Given the description of an element on the screen output the (x, y) to click on. 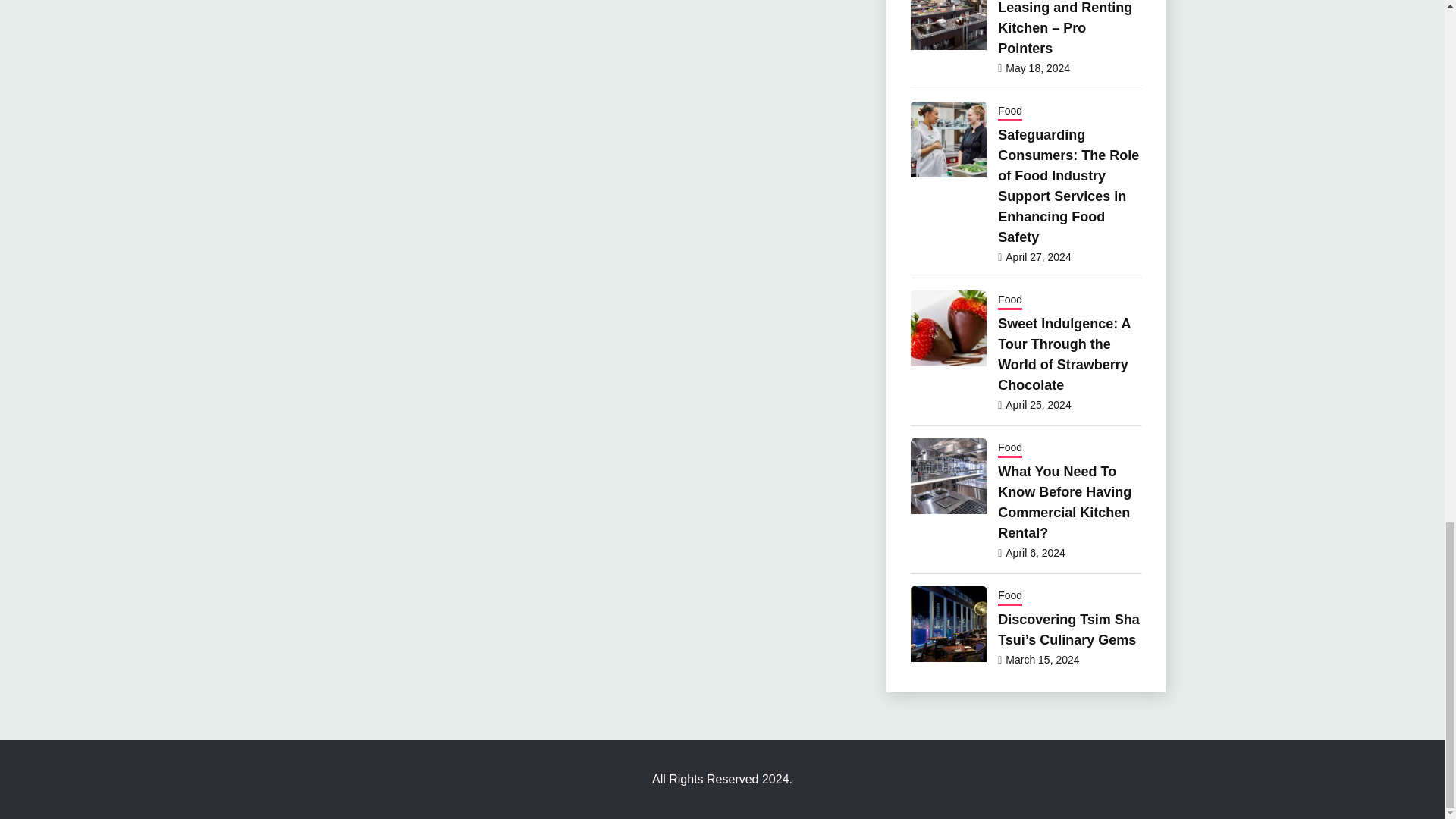
Food (1009, 112)
May 18, 2024 (1038, 68)
April 27, 2024 (1038, 256)
